Given the description of an element on the screen output the (x, y) to click on. 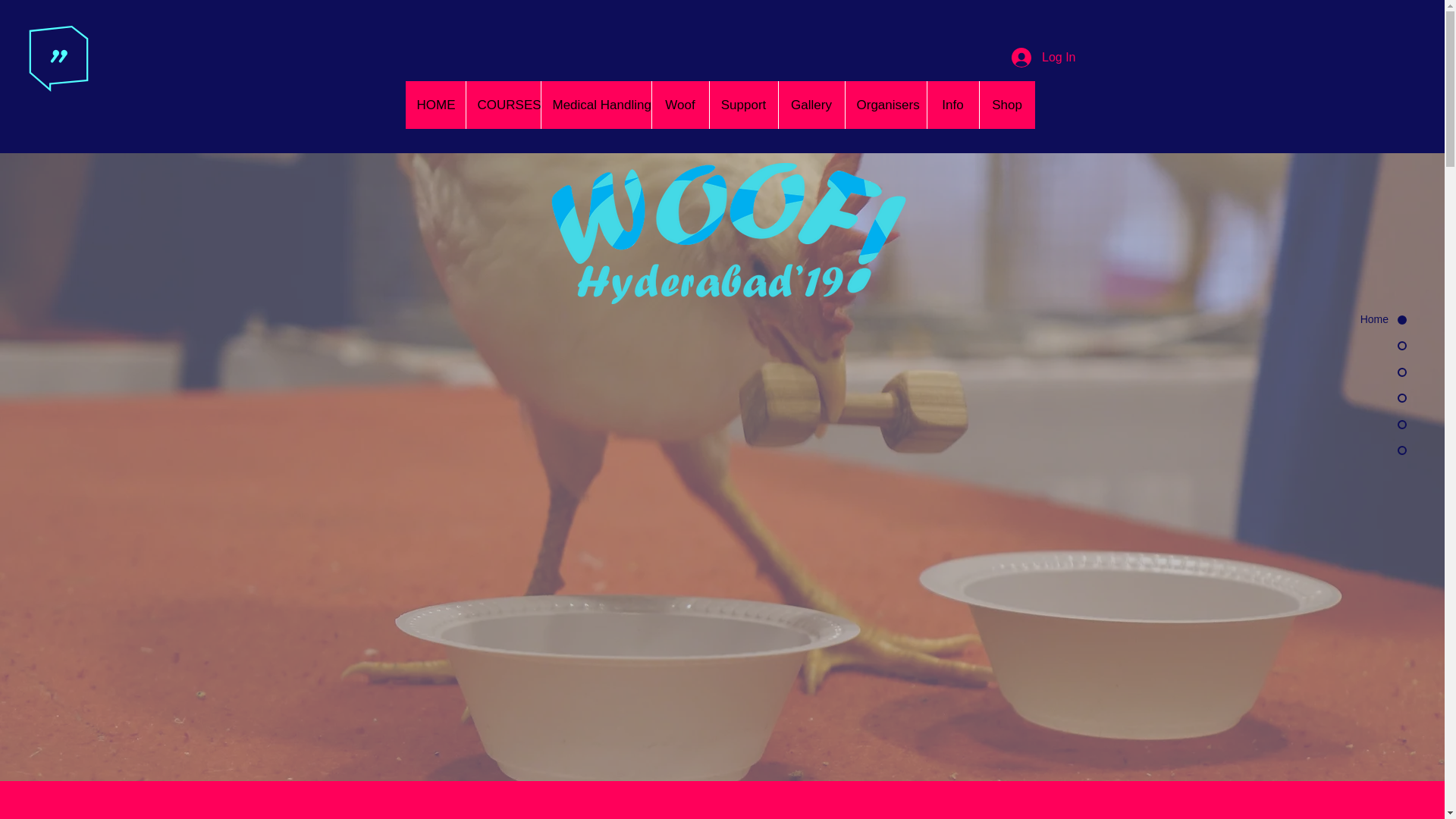
Support (742, 104)
Medical Handling (595, 104)
Shop (1005, 104)
COURSES (502, 104)
Info (952, 104)
Gallery (810, 104)
Log In (1043, 57)
HOME (434, 104)
Organisers (885, 104)
Home (1367, 319)
